Given the description of an element on the screen output the (x, y) to click on. 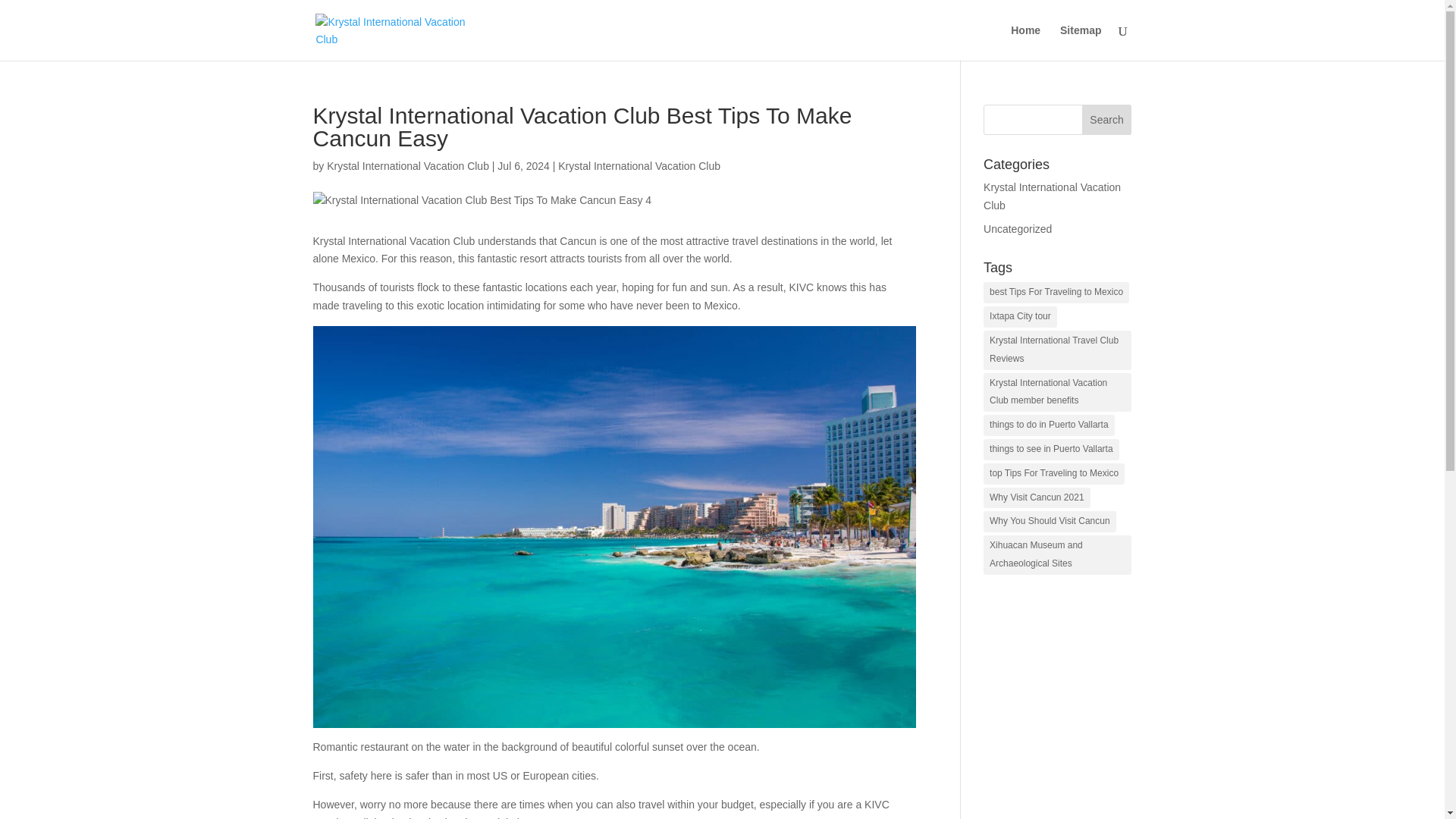
Xihuacan Museum and Archaeological Sites (1057, 554)
Krystal International Vacation Club (638, 165)
things to see in Puerto Vallarta (1051, 449)
Krystal International Vacation Club (407, 165)
Why You Should Visit Cancun (1050, 521)
Krystal International Vacation Club (1052, 195)
Krystal International Vacation Club member benefits (1057, 392)
Search (1106, 119)
things to do in Puerto Vallarta (1049, 424)
Search (1106, 119)
